Given the description of an element on the screen output the (x, y) to click on. 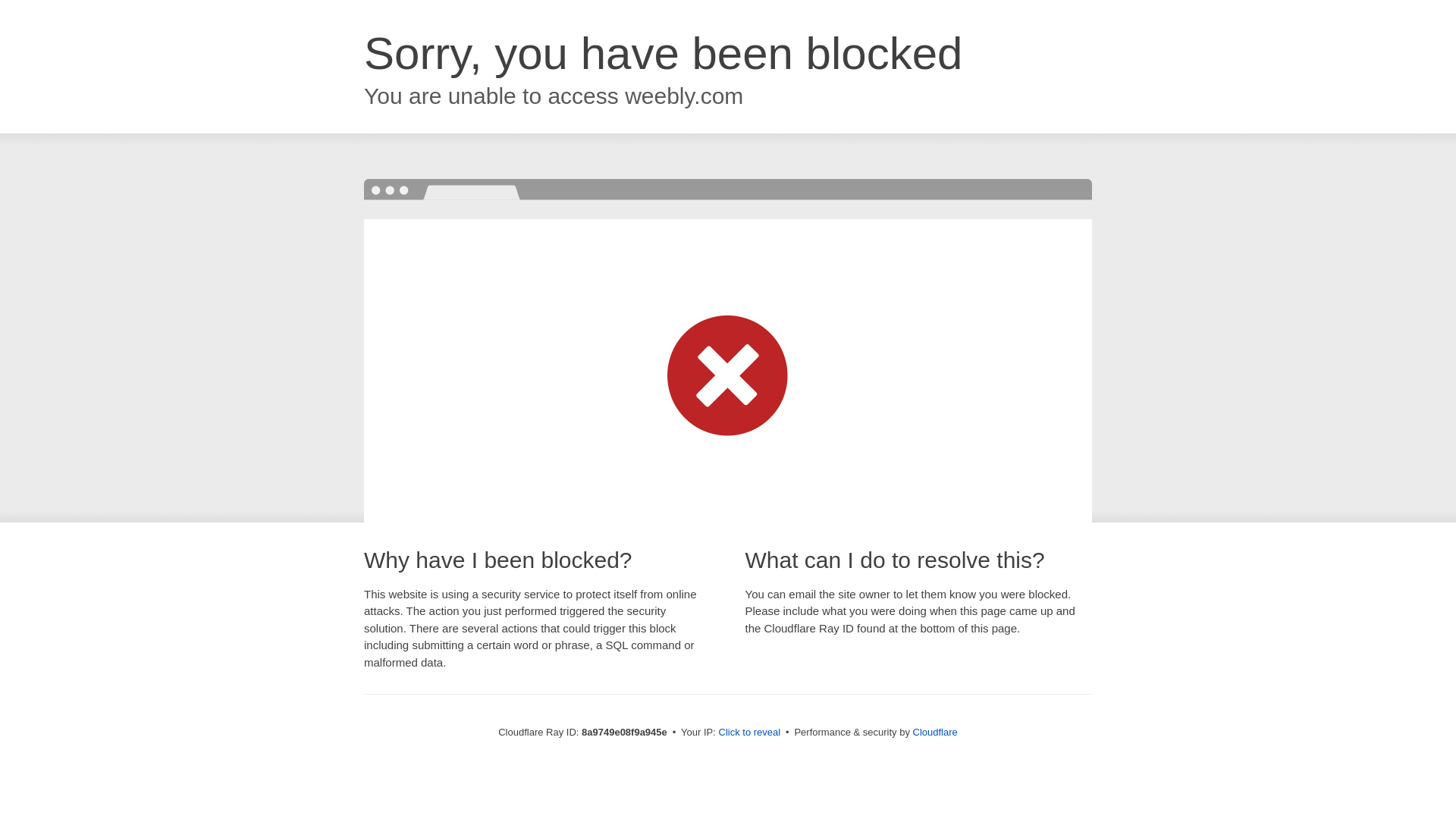
Cloudflare (935, 731)
Click to reveal (749, 732)
